Given the description of an element on the screen output the (x, y) to click on. 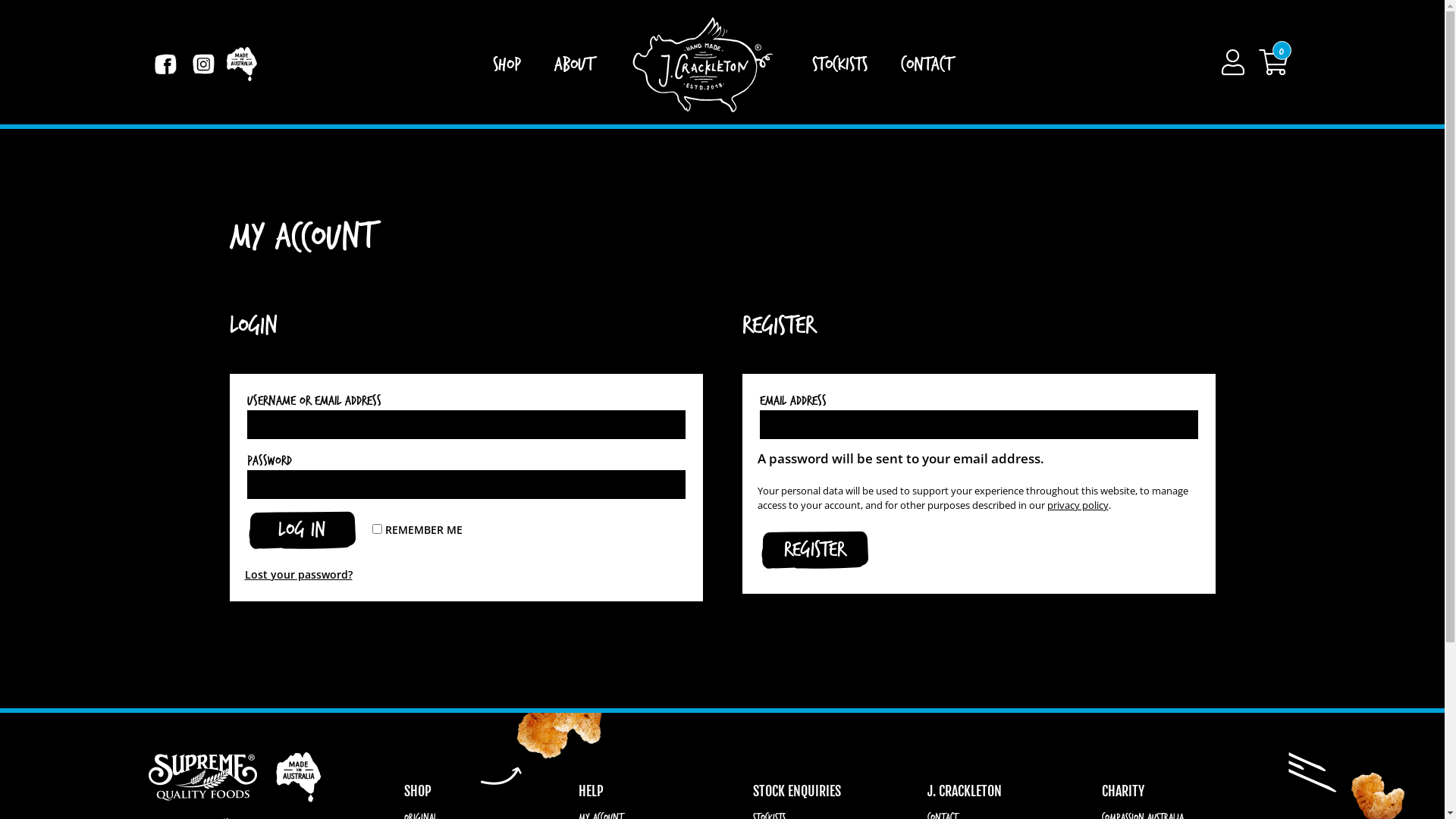
STOCKISTS Element type: text (838, 64)
LOG IN Element type: text (302, 530)
J.CRACKLTON Element type: text (702, 64)
privacy policy Element type: text (1076, 504)
Lost your password? Element type: text (297, 574)
CONTACT Element type: text (926, 64)
REGISTER Element type: text (814, 549)
0 Element type: text (1272, 61)
SHOP Element type: text (506, 64)
ABOUT Element type: text (573, 64)
